Given the description of an element on the screen output the (x, y) to click on. 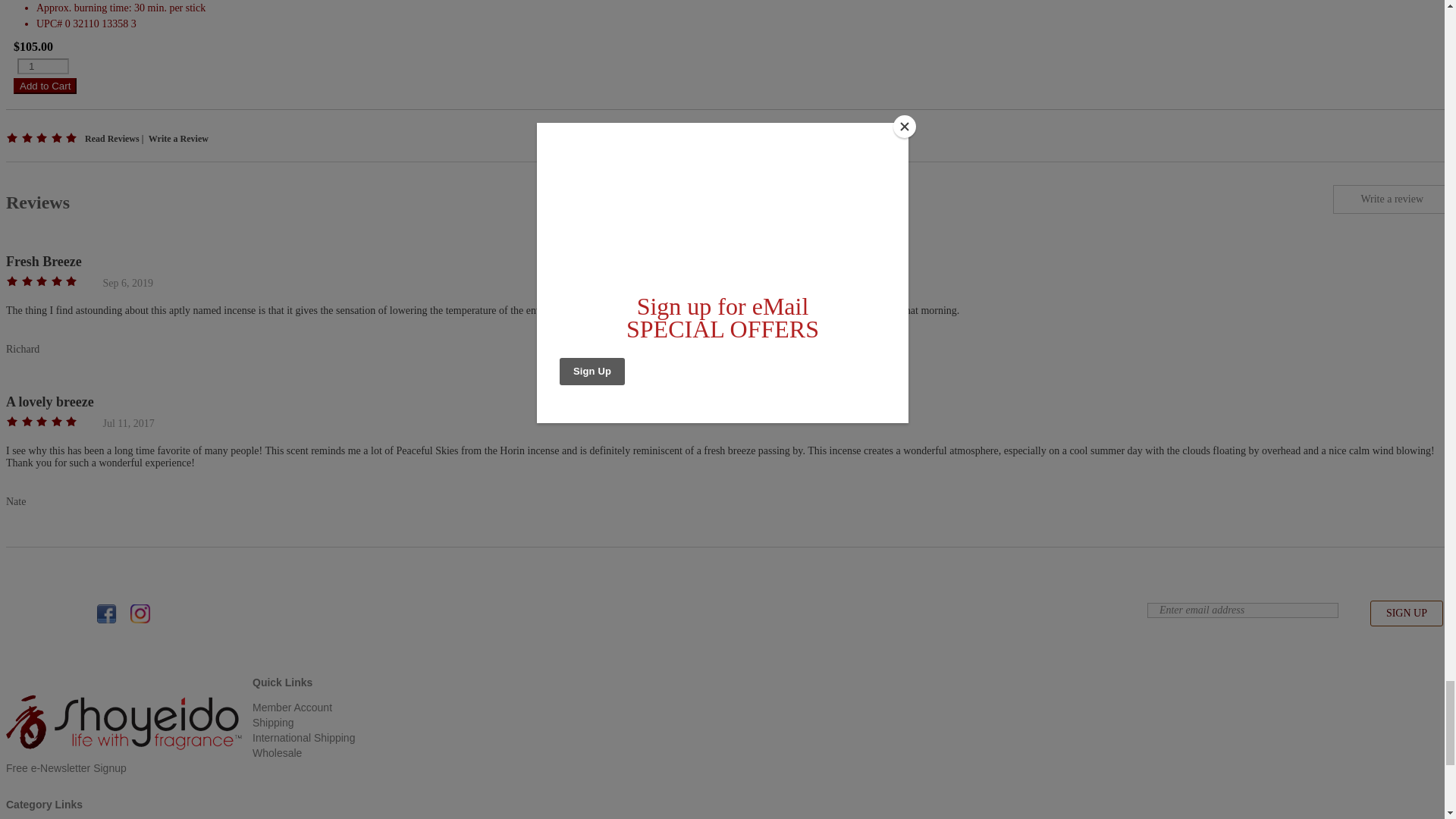
Add to Cart (45, 85)
Sign Up (1406, 613)
1 (42, 66)
Enter email address (1242, 610)
